Given the description of an element on the screen output the (x, y) to click on. 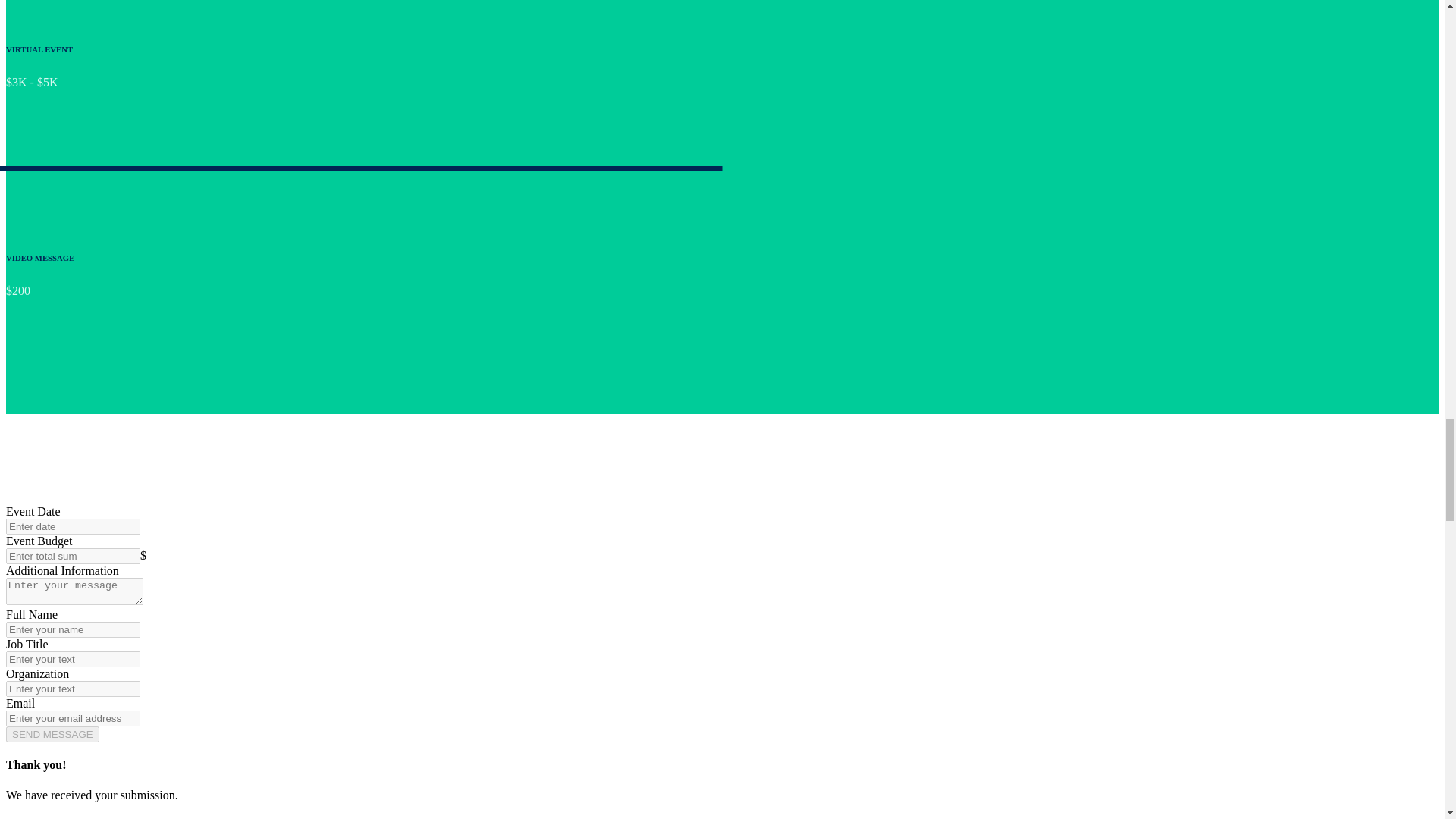
SEND MESSAGE (52, 734)
